Given the description of an element on the screen output the (x, y) to click on. 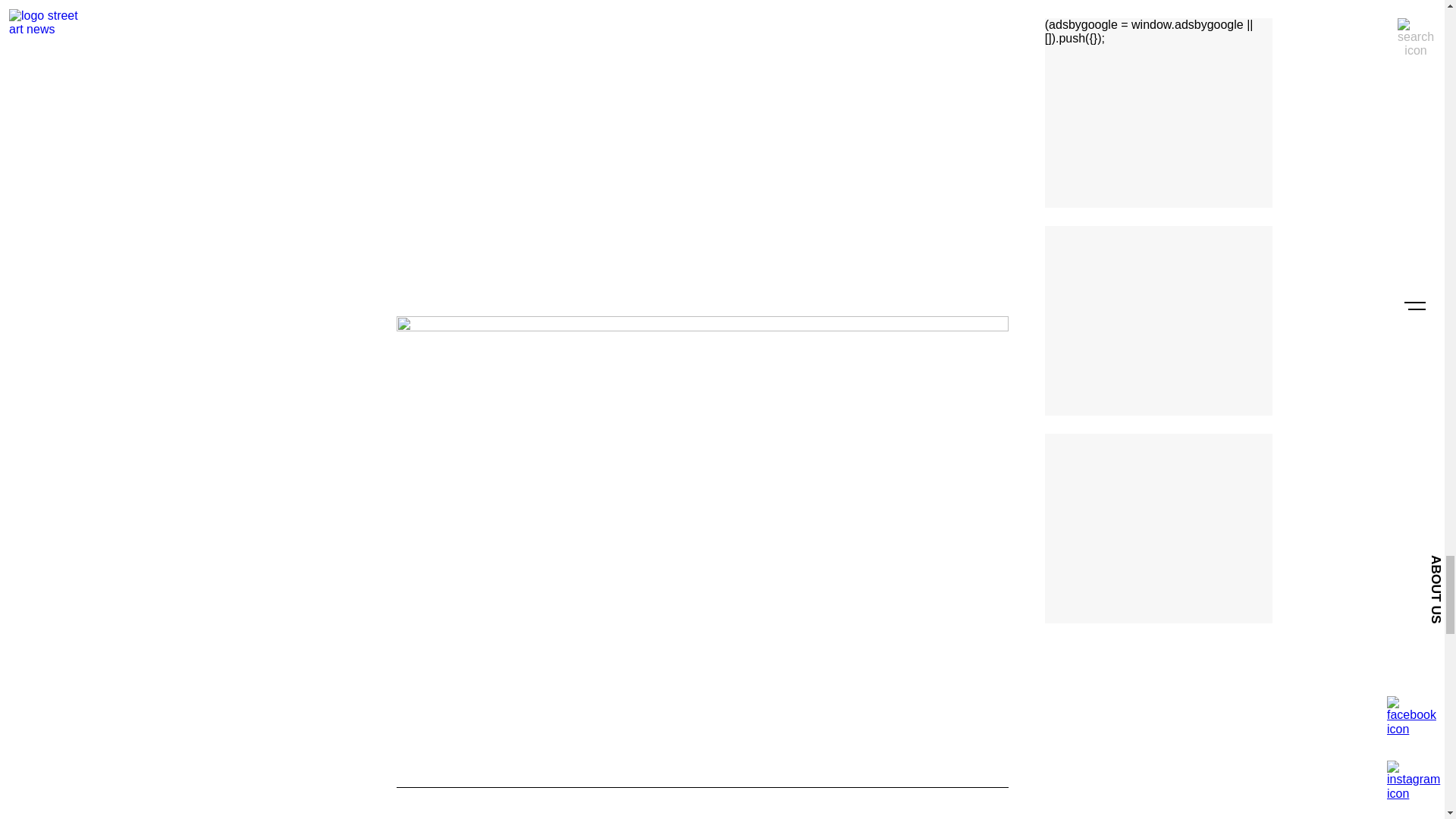
Italy (551, 817)
Biancoshock (454, 817)
Ravenna (633, 817)
